Given the description of an element on the screen output the (x, y) to click on. 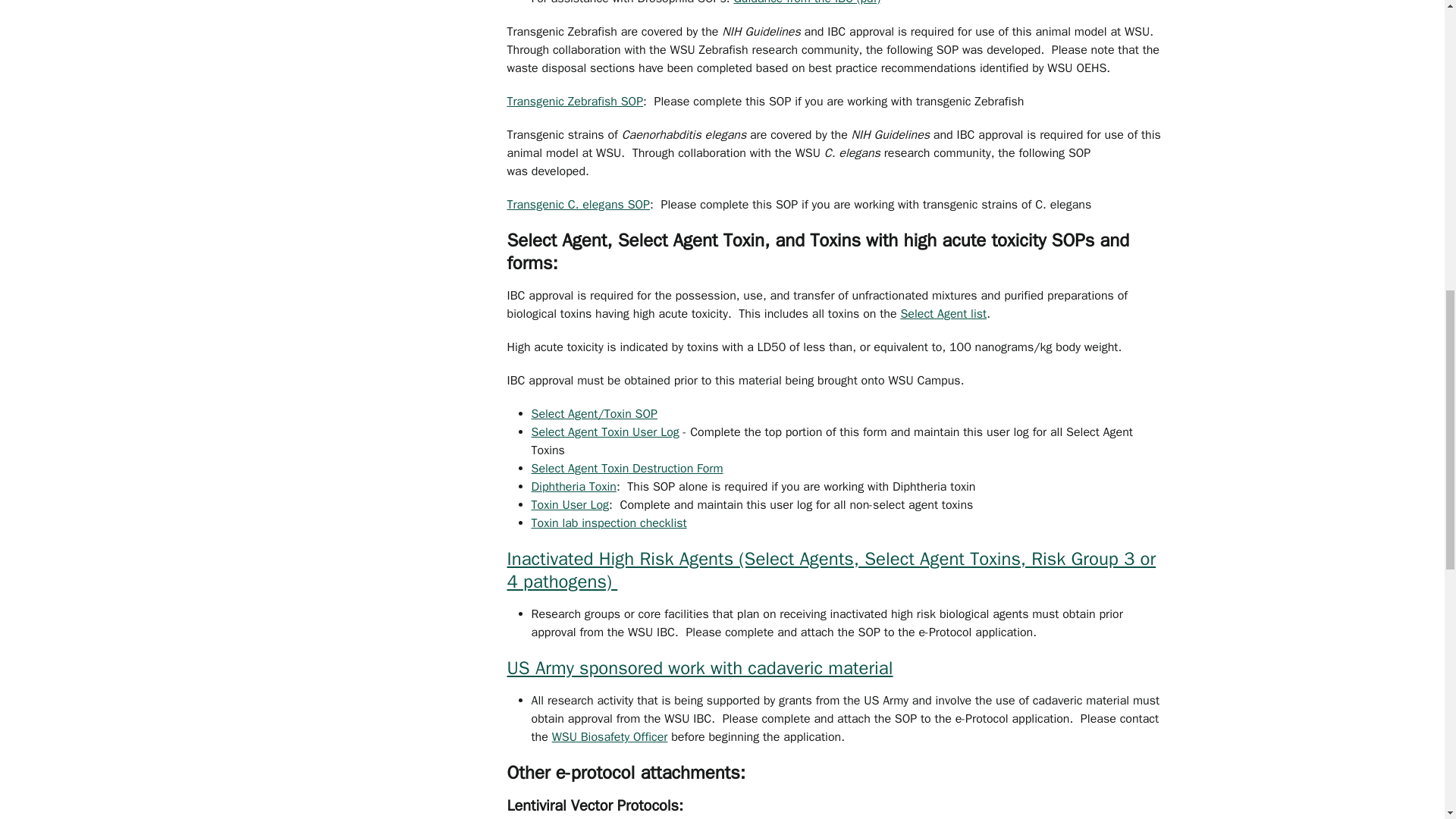
Select Agent Toxin User Log (604, 432)
Select Agent Toxin Destruction Form (626, 468)
WSU Biosafety Officer (609, 736)
Transgenic Zebrafish SOP (574, 101)
Toxin lab inspection checklist (608, 522)
US Army sponsored work with cadaveric material (699, 667)
Transgenic C. elegans SOP (577, 204)
Select Agent list (943, 313)
Diphtheria Toxin (573, 486)
Toxin User Log (569, 504)
